Given the description of an element on the screen output the (x, y) to click on. 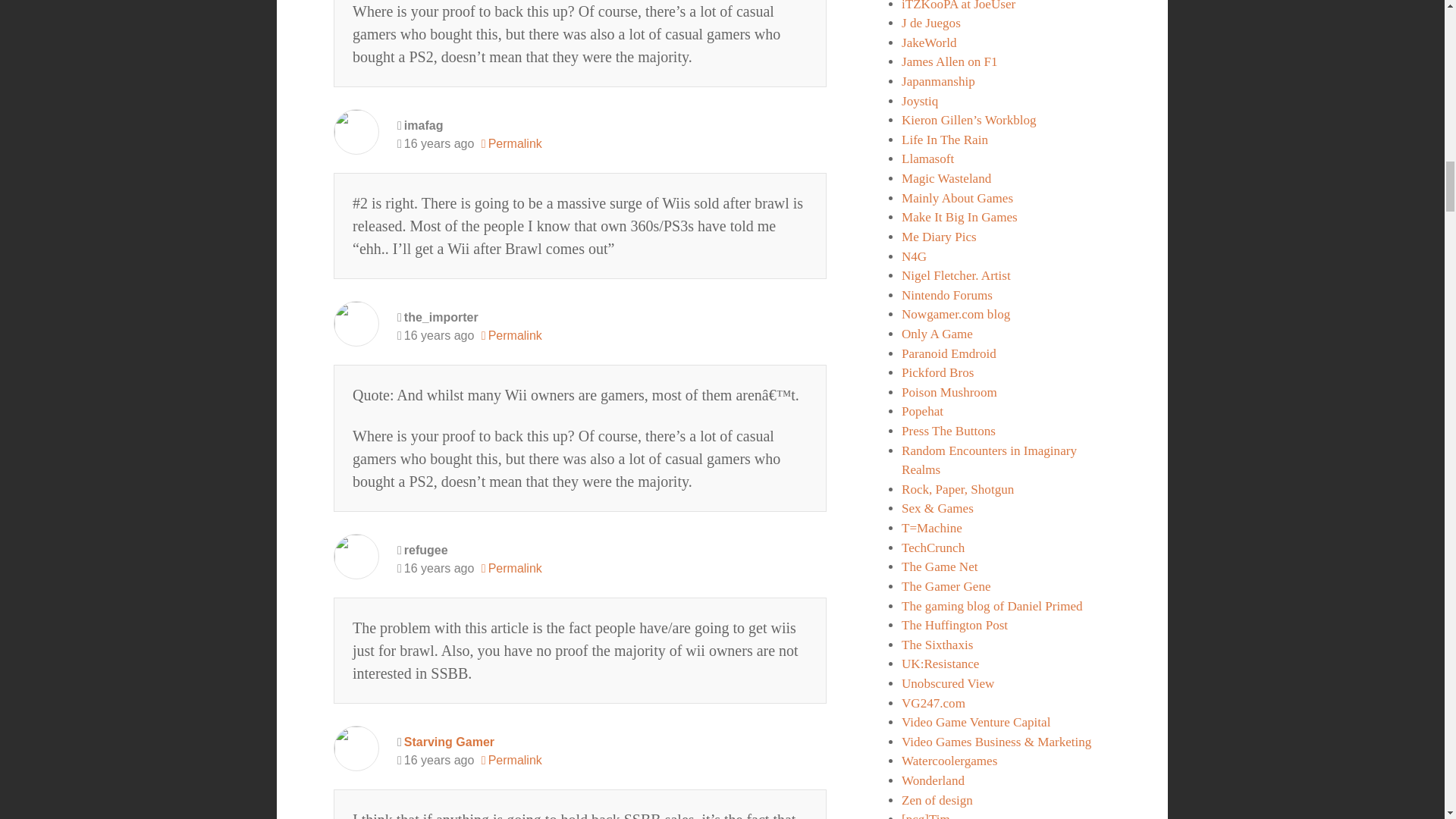
Saturday, February 16, 2008, 7:36 pm (435, 760)
Starving Gamer (449, 741)
Saturday, February 16, 2008, 7:14 pm (435, 568)
Permalink (511, 144)
Permalink (511, 760)
Permalink (511, 568)
Saturday, February 16, 2008, 6:48 pm (435, 335)
Permalink (511, 335)
Saturday, February 16, 2008, 6:46 pm (435, 144)
